Given the description of an element on the screen output the (x, y) to click on. 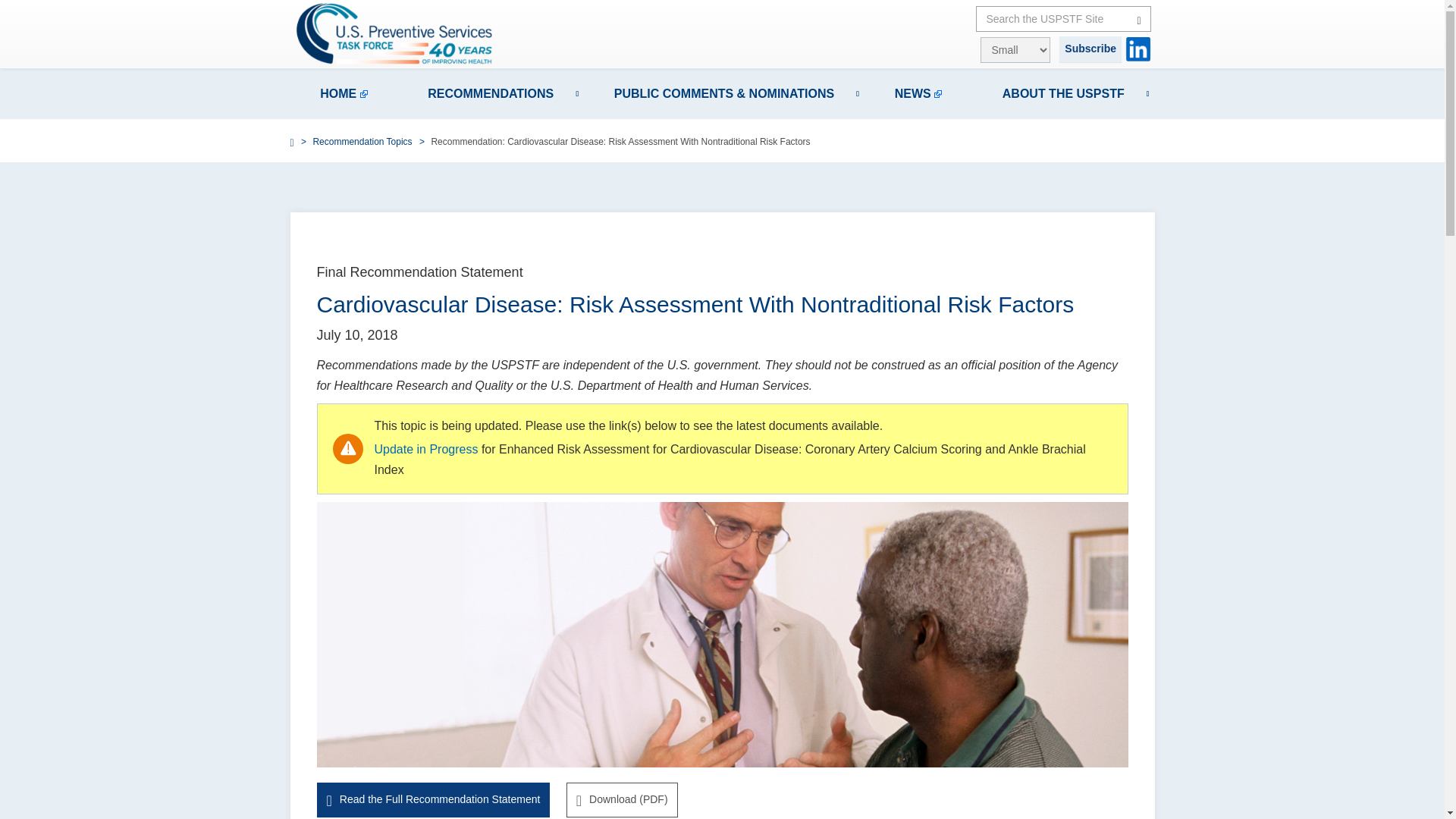
Share to Facebook (1058, 192)
Share to X (1079, 192)
Print (1143, 192)
Home (402, 33)
Subscribe (1090, 49)
Share to WhatsApp (1100, 192)
Share to Email (1122, 192)
